Given the description of an element on the screen output the (x, y) to click on. 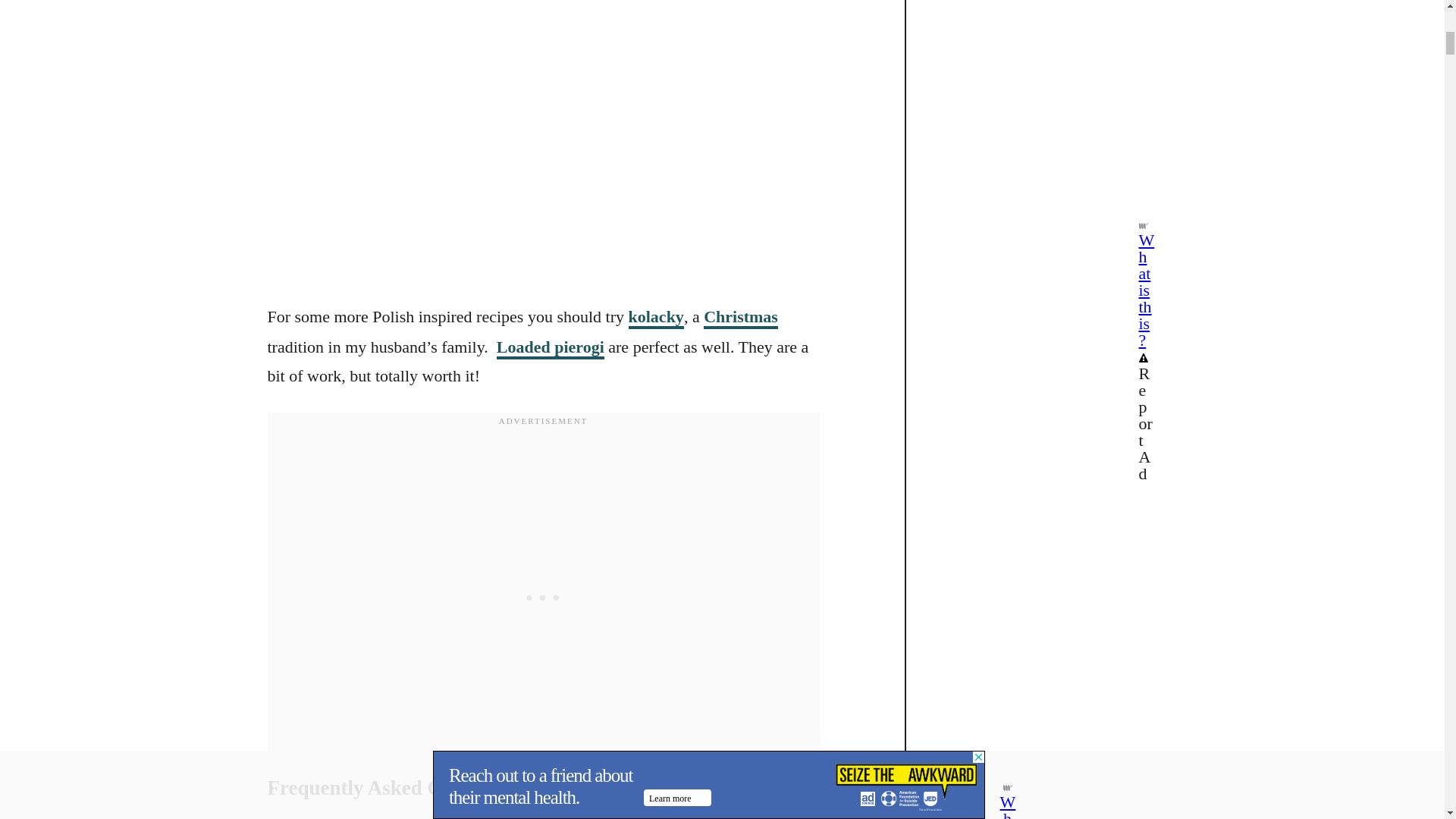
kolacky (656, 318)
Christmas (740, 318)
Loaded pierogi (550, 348)
